Given the description of an element on the screen output the (x, y) to click on. 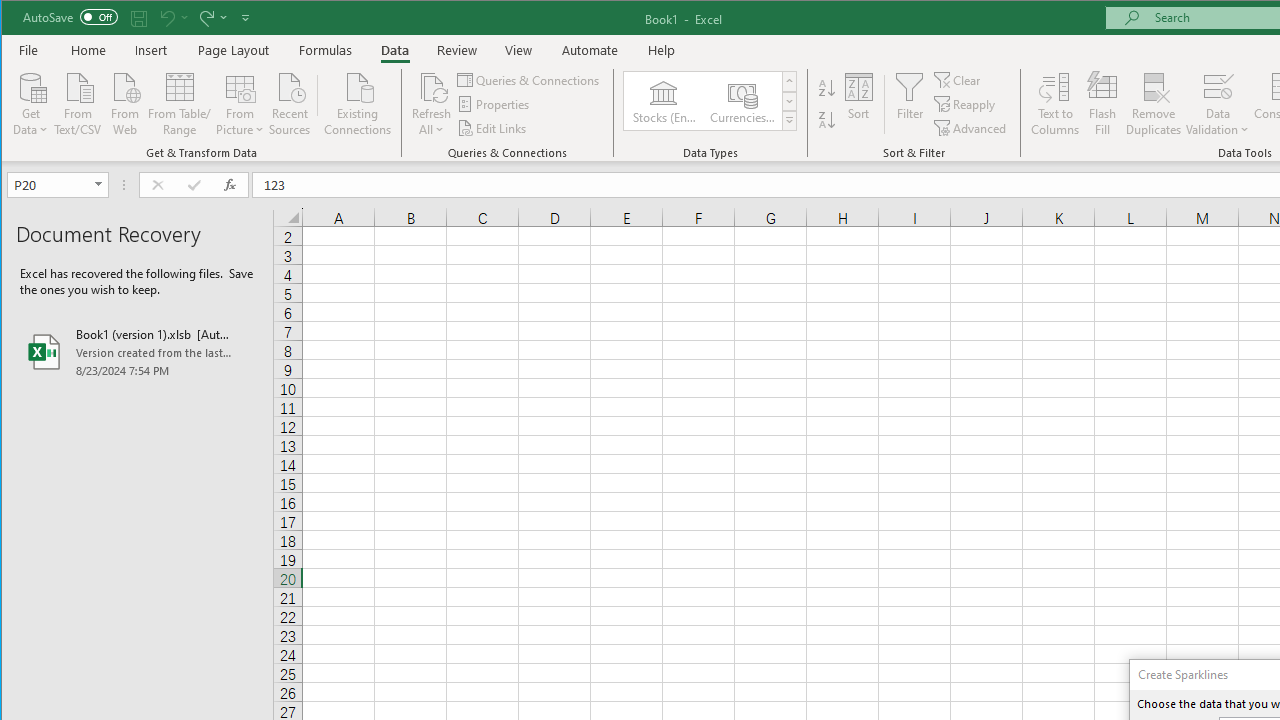
Existing Connections (358, 101)
Queries & Connections (529, 80)
Recent Sources (290, 101)
Row Down (789, 101)
Data Types (789, 120)
Currencies (English) (741, 100)
From Text/CSV (77, 101)
Properties (495, 103)
